Given the description of an element on the screen output the (x, y) to click on. 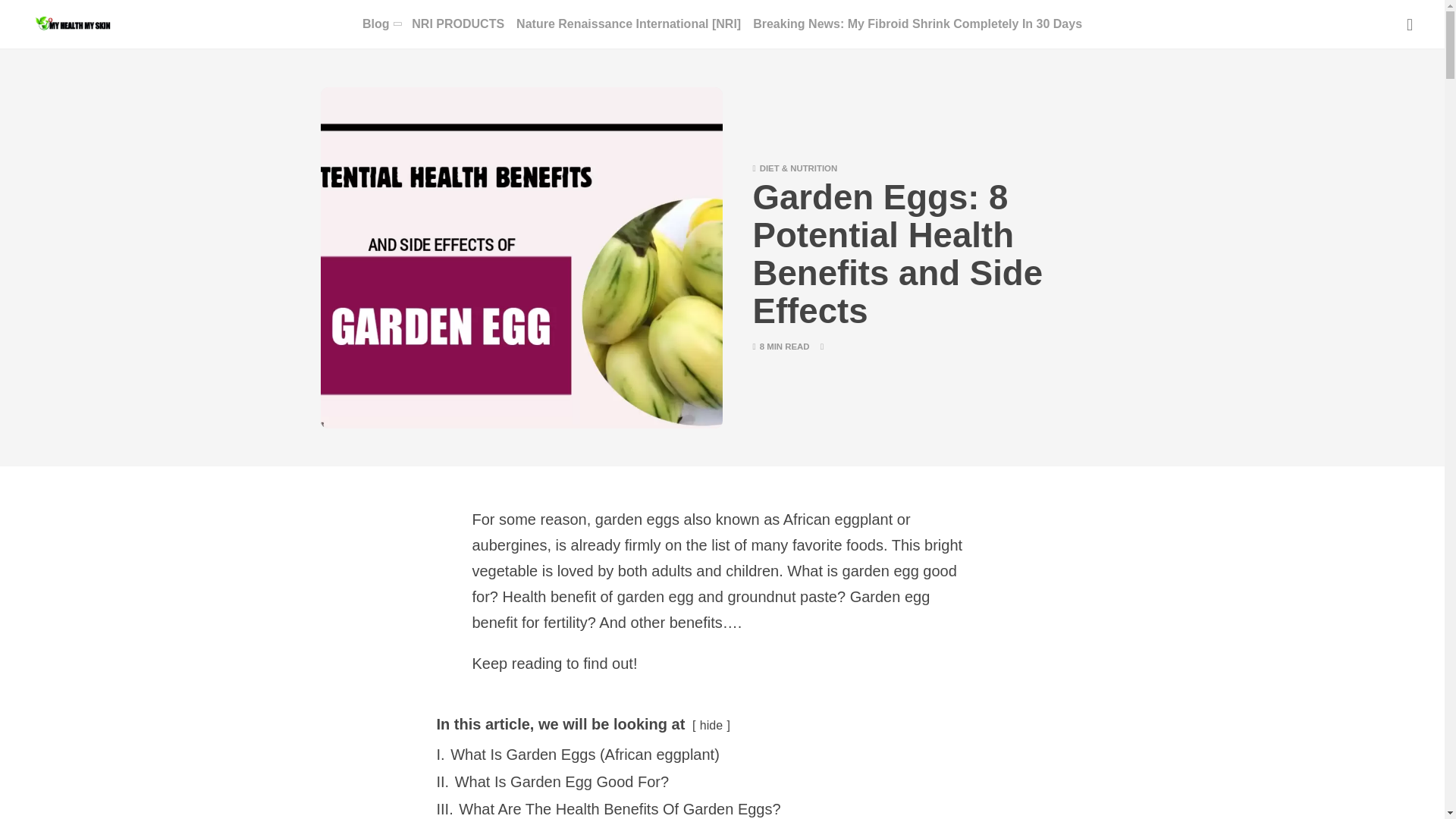
II. What Is Garden Egg Good For? (552, 781)
III. What Are The Health Benefits Of Garden Eggs? (608, 808)
hide (711, 725)
NRI PRODUCTS (457, 24)
Breaking News: My Fibroid Shrink Completely In 30 Days (916, 24)
